Given the description of an element on the screen output the (x, y) to click on. 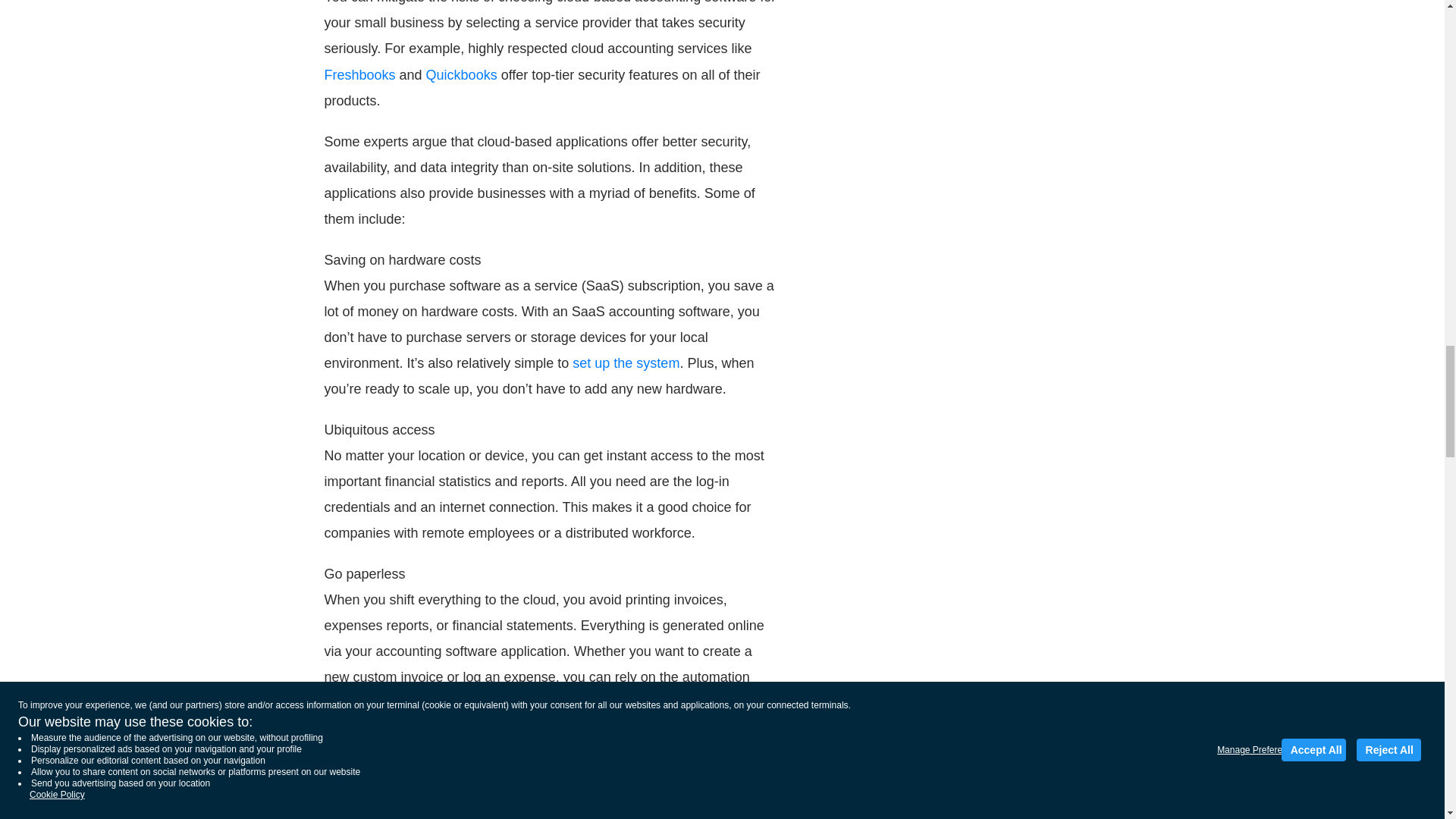
Freshbooks (360, 73)
Quickbooks (461, 73)
